Given the description of an element on the screen output the (x, y) to click on. 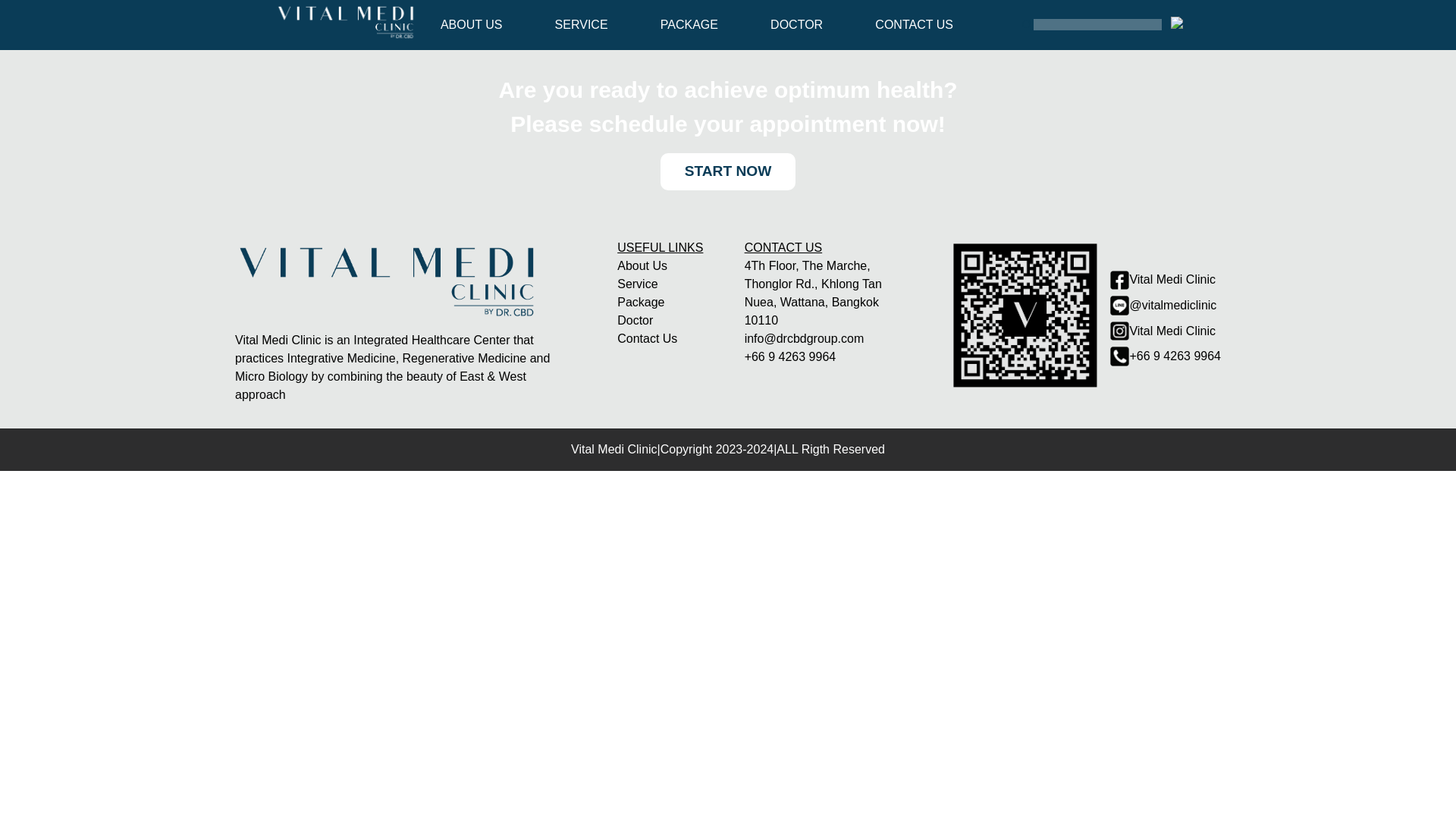
SERVICE (581, 24)
ABOUT US (471, 24)
PACKAGE (689, 24)
